Given the description of an element on the screen output the (x, y) to click on. 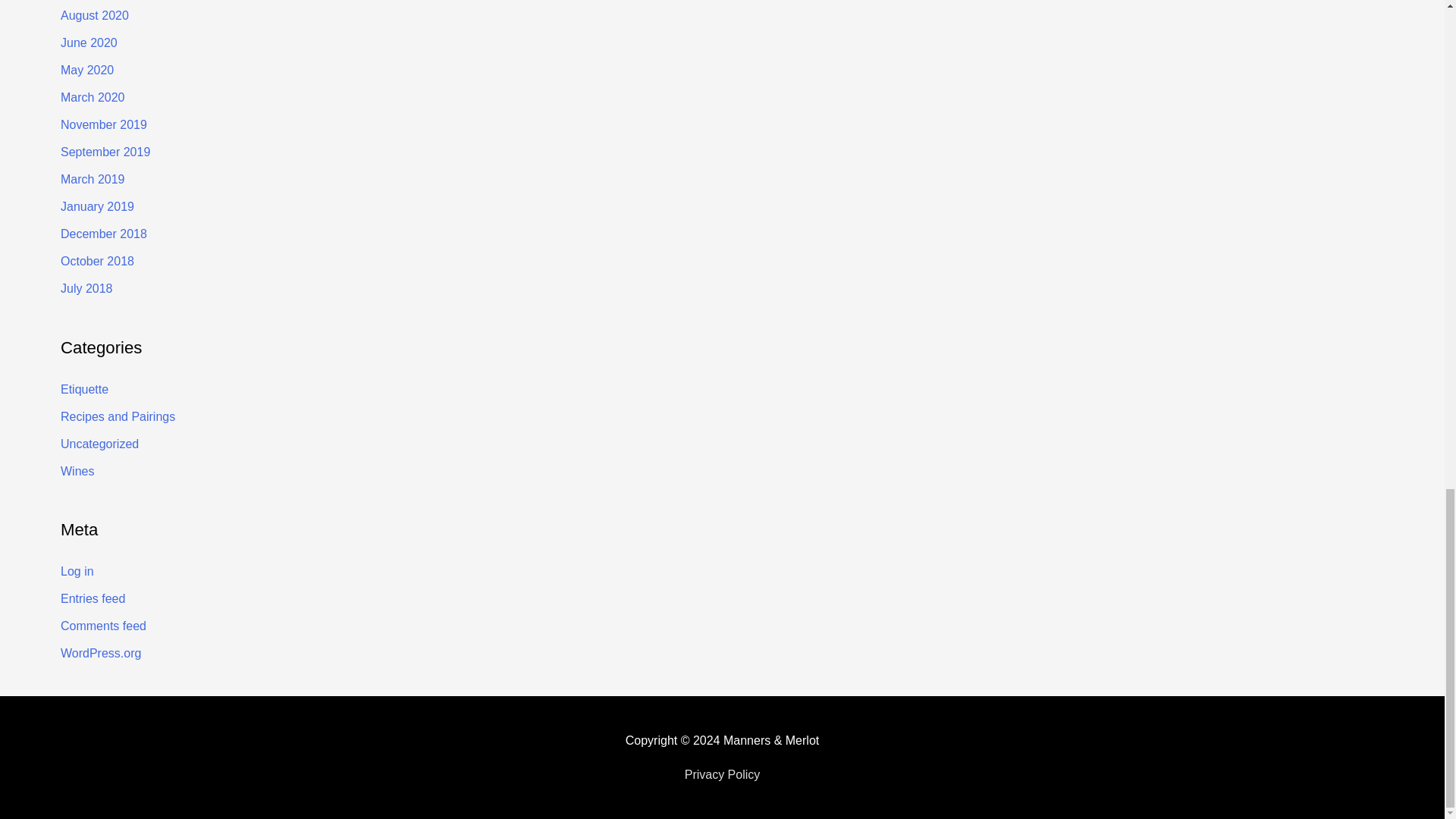
December 2018 (104, 233)
Wines (77, 470)
June 2020 (89, 42)
October 2018 (97, 260)
July 2018 (87, 287)
August 2020 (95, 15)
Uncategorized (99, 442)
Etiquette (84, 388)
Recipes and Pairings (117, 415)
March 2020 (93, 97)
